Given the description of an element on the screen output the (x, y) to click on. 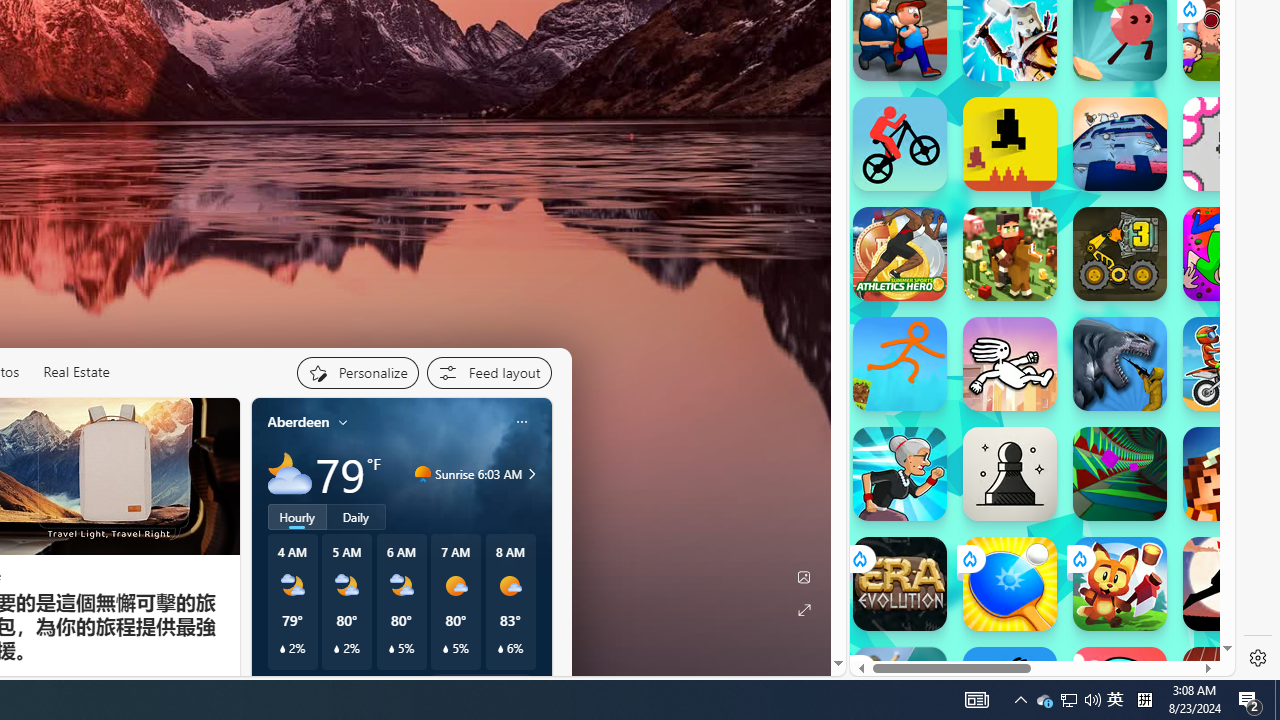
Era: Evolution (899, 583)
SUBWAY SURFERS - Play Online for Free! | Poki (1034, 659)
Apple Knight: Farmers Market Apple Knight: Farmers Market (1009, 253)
Ping Pong Go! Ping Pong Go! (1009, 583)
Athletics Hero (899, 253)
Fox Island Builder Fox Island Builder (1119, 583)
BoxRob 3 (1119, 253)
Stickman Parkour Skyland (899, 363)
Level Devil Level Devil (1009, 143)
Angry Gran Run (899, 473)
Combat Reloaded (1092, 233)
Hills of Steel (943, 334)
